Given the description of an element on the screen output the (x, y) to click on. 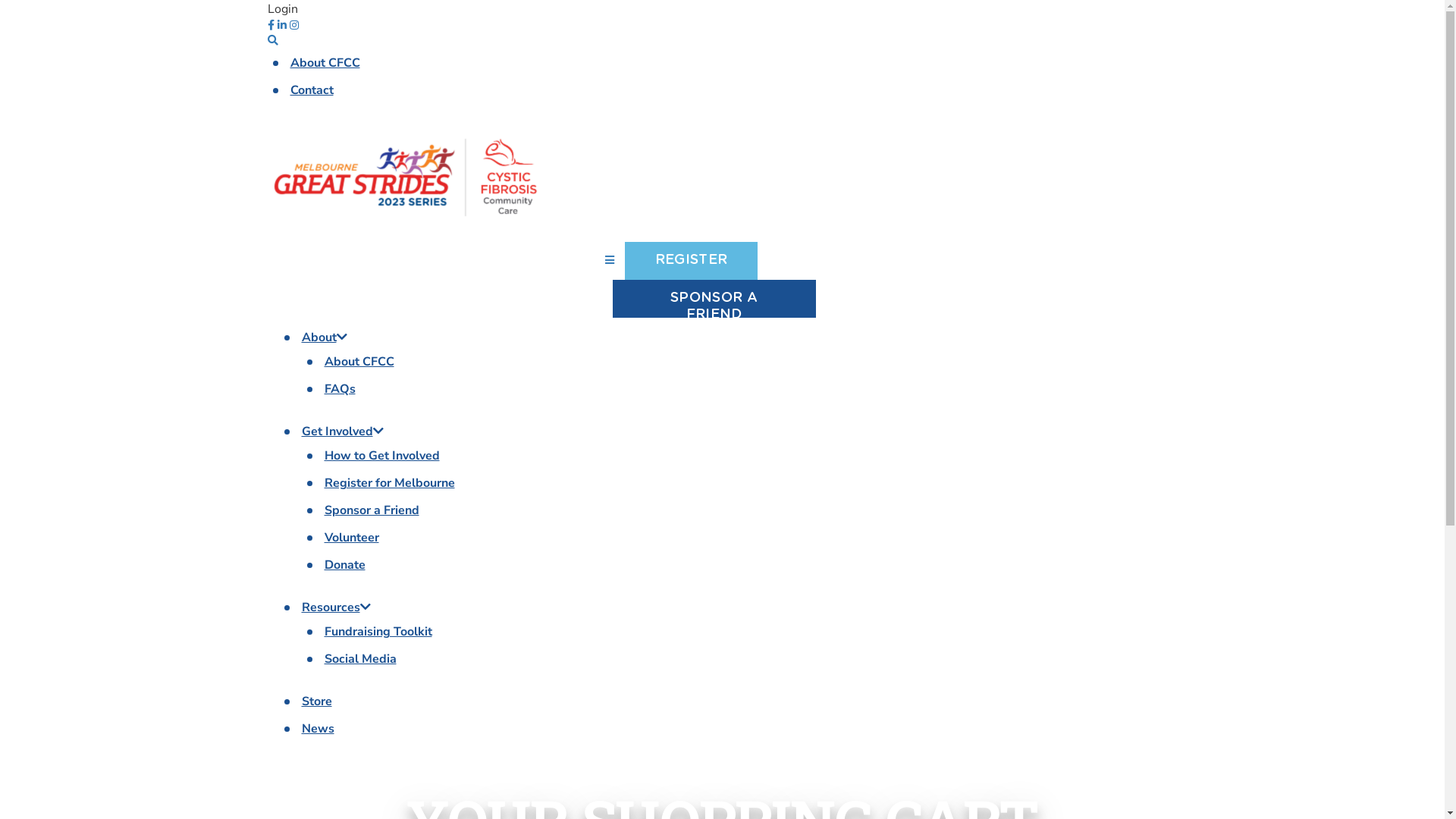
About CFCC Element type: text (324, 62)
News Element type: text (317, 728)
Store Element type: text (316, 701)
About Element type: text (324, 337)
Sponsor a Friend Element type: text (371, 510)
Resources Element type: text (335, 607)
REGISTER Element type: text (691, 260)
Contact Element type: text (310, 89)
Fundraising Toolkit Element type: text (378, 631)
Get Involved Element type: text (342, 431)
FAQs Element type: text (339, 388)
Volunteer Element type: text (351, 537)
Register for Melbourne Element type: text (389, 482)
Social Media Element type: text (360, 658)
Donate Element type: text (344, 564)
About CFCC Element type: text (359, 361)
Login Element type: text (281, 9)
How to Get Involved Element type: text (381, 455)
SPONSOR A FRIEND Element type: text (713, 298)
